Given the description of an element on the screen output the (x, y) to click on. 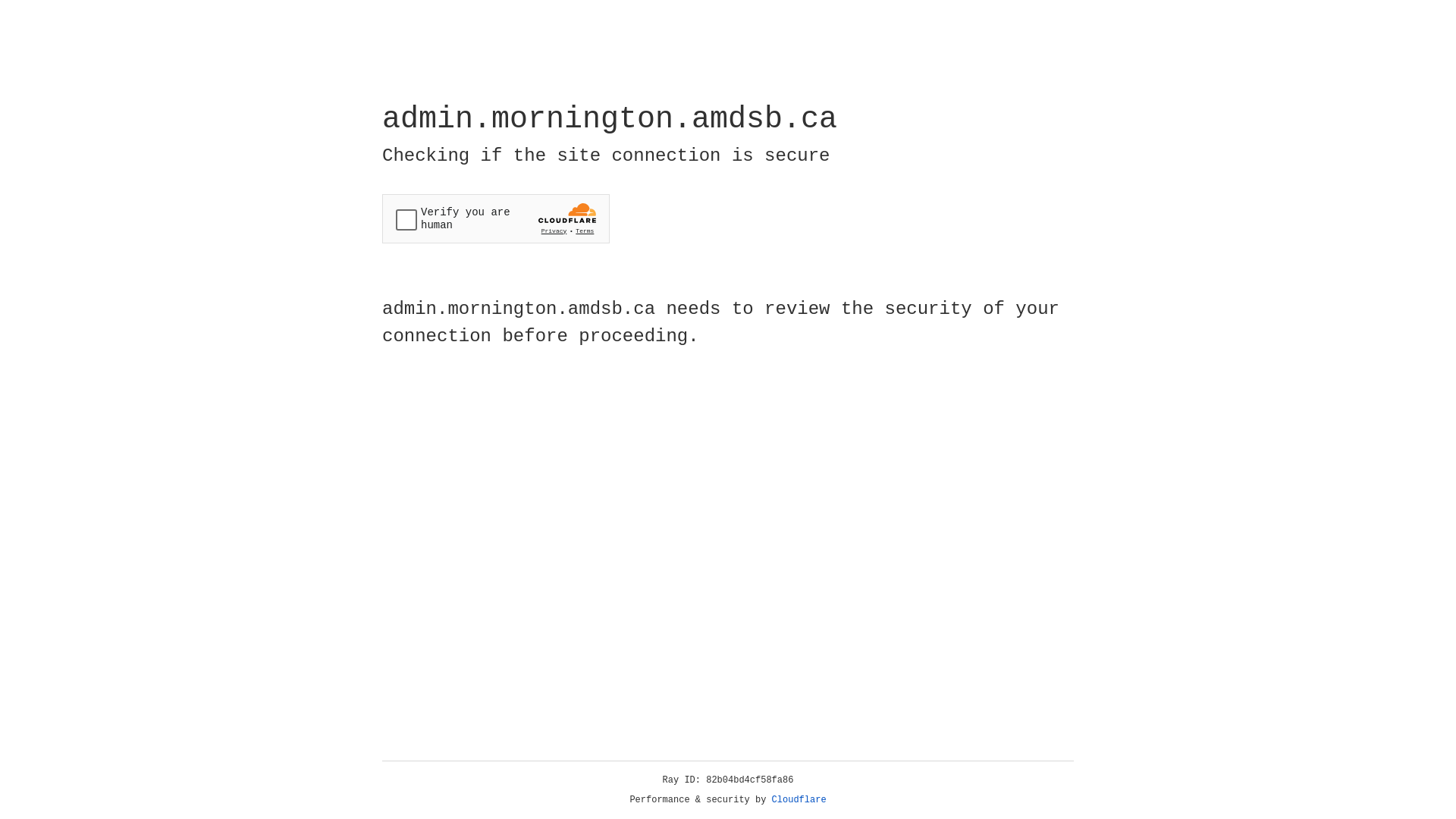
Cloudflare Element type: text (798, 799)
Widget containing a Cloudflare security challenge Element type: hover (495, 218)
